Given the description of an element on the screen output the (x, y) to click on. 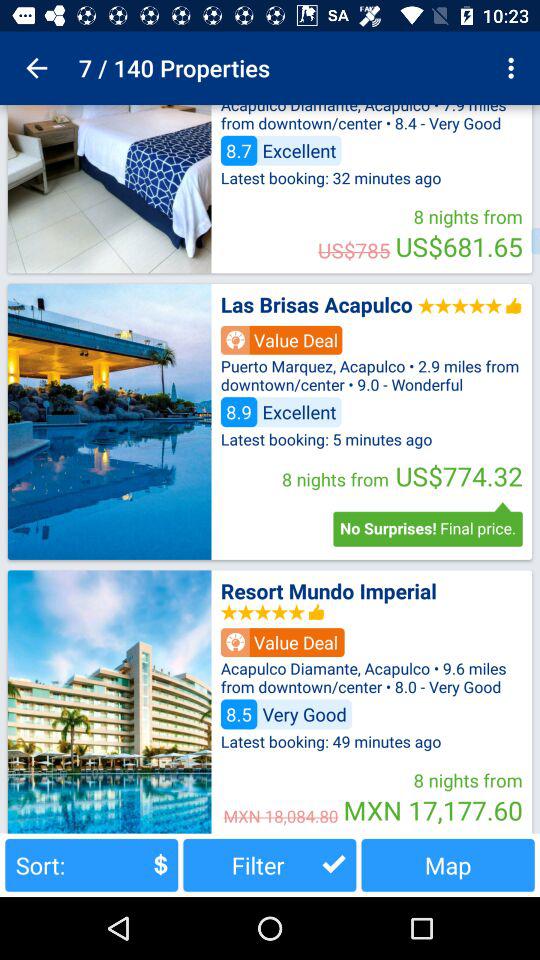
jump to sort: (91, 864)
